Given the description of an element on the screen output the (x, y) to click on. 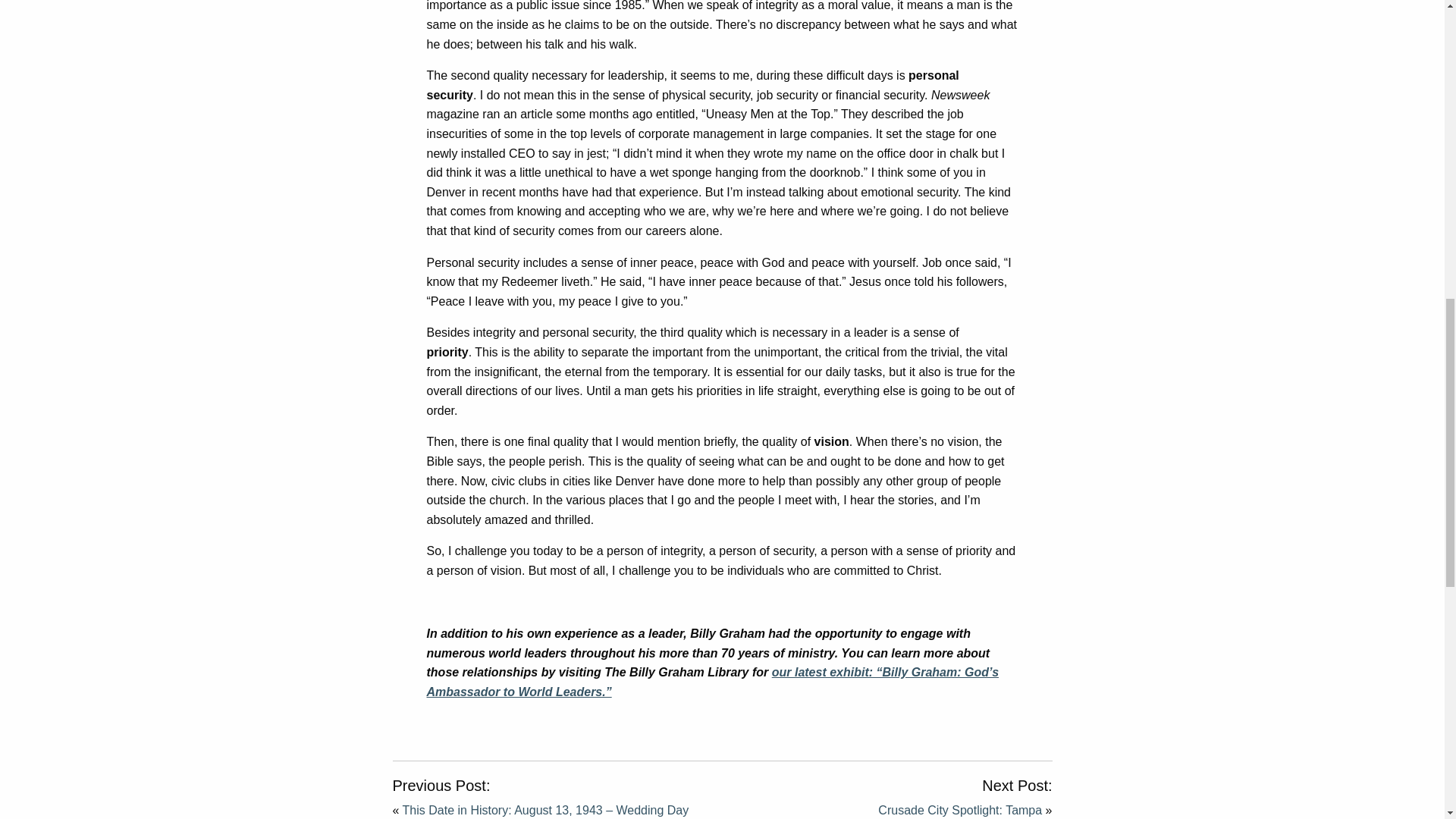
God's Ambassador Exhibit (712, 681)
